Given the description of an element on the screen output the (x, y) to click on. 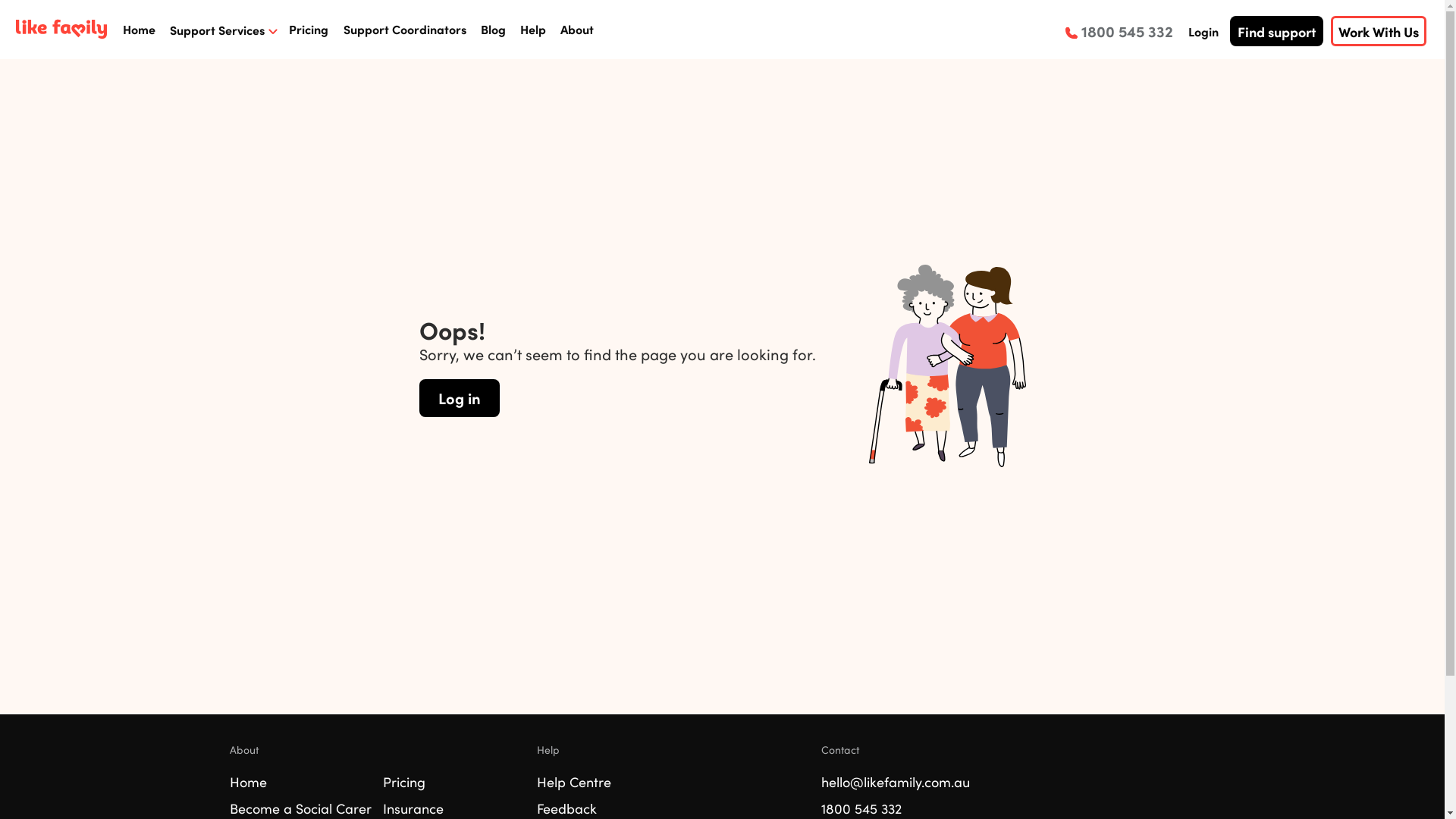
Help Element type: text (533, 28)
Blog Element type: text (492, 28)
Pricing Element type: text (308, 28)
Support Coordinators Element type: text (404, 28)
Pricing Element type: text (403, 781)
hello@likefamily.com.au Element type: text (894, 781)
Find support Element type: text (1276, 30)
Feedback Element type: text (566, 808)
Home Element type: text (247, 781)
About Element type: text (576, 28)
Login Element type: text (1209, 30)
Help Centre Element type: text (573, 781)
Become a Social Carer Element type: text (299, 808)
Support Services Element type: text (221, 29)
1800 545 332 Element type: text (860, 808)
Log in Element type: text (458, 398)
Insurance Element type: text (412, 808)
Work With Us Element type: text (1378, 30)
Home Element type: text (138, 28)
